Given the description of an element on the screen output the (x, y) to click on. 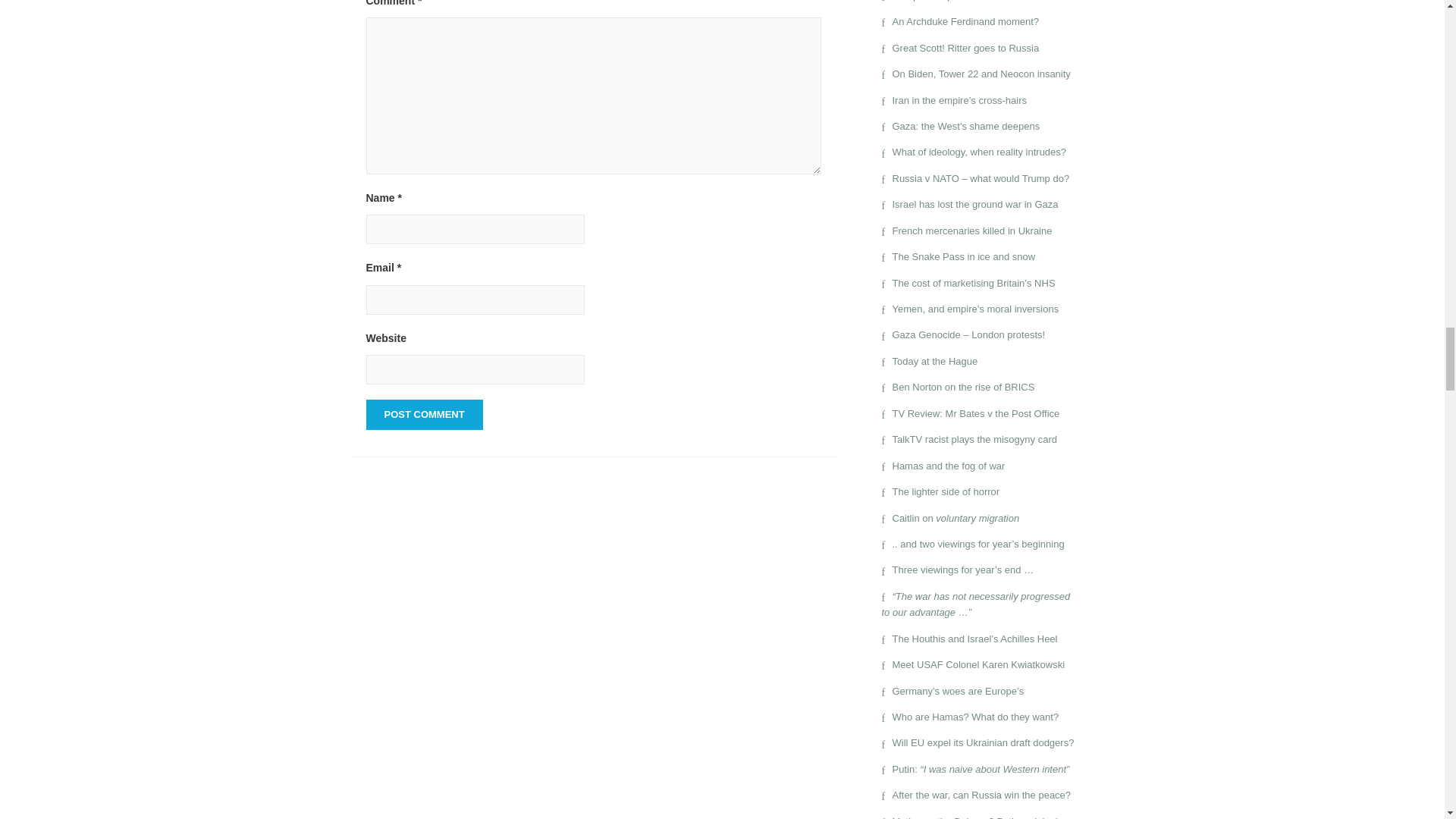
Post Comment (423, 414)
